Given the description of an element on the screen output the (x, y) to click on. 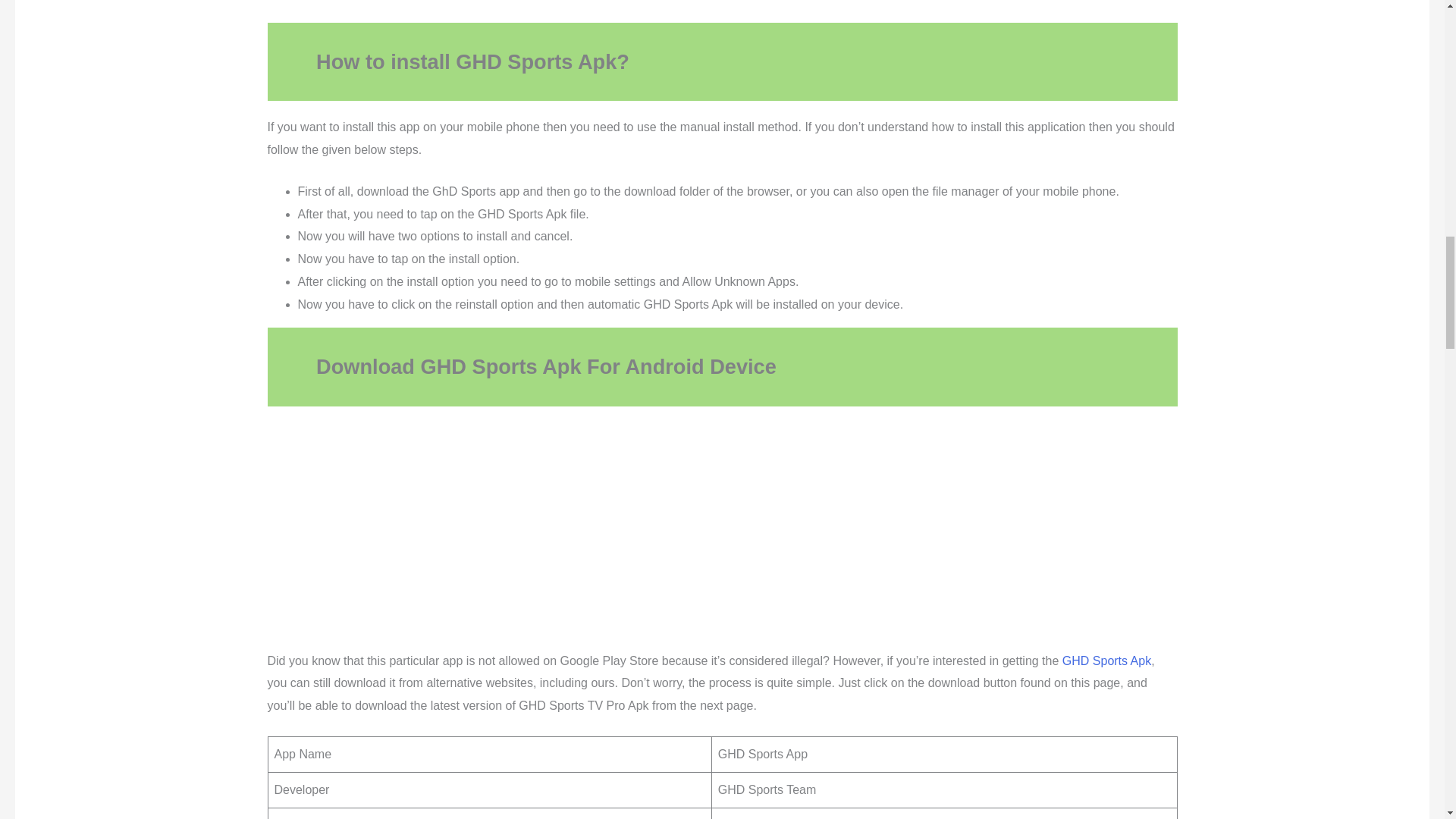
GHD Sports Apk (1106, 660)
